Given the description of an element on the screen output the (x, y) to click on. 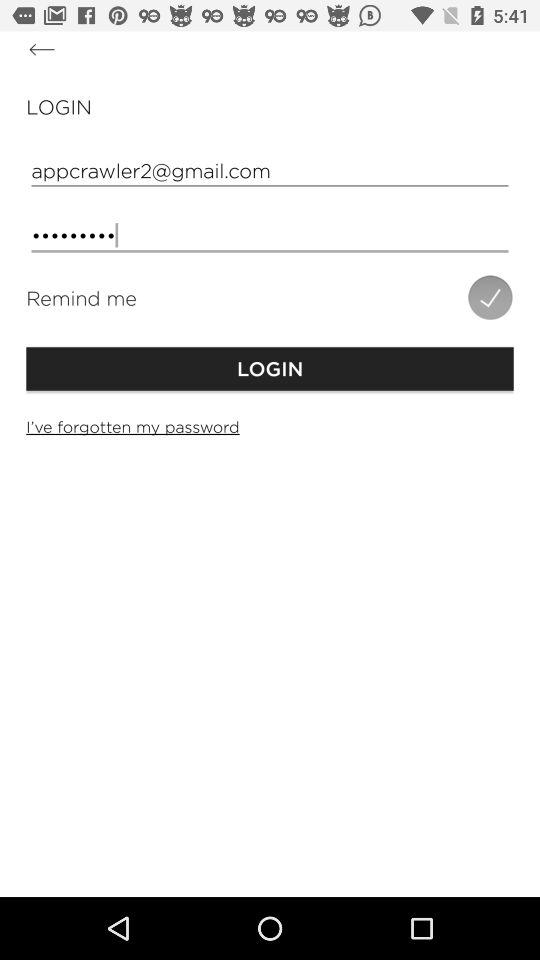
open the item above crowd3116 icon (269, 170)
